Given the description of an element on the screen output the (x, y) to click on. 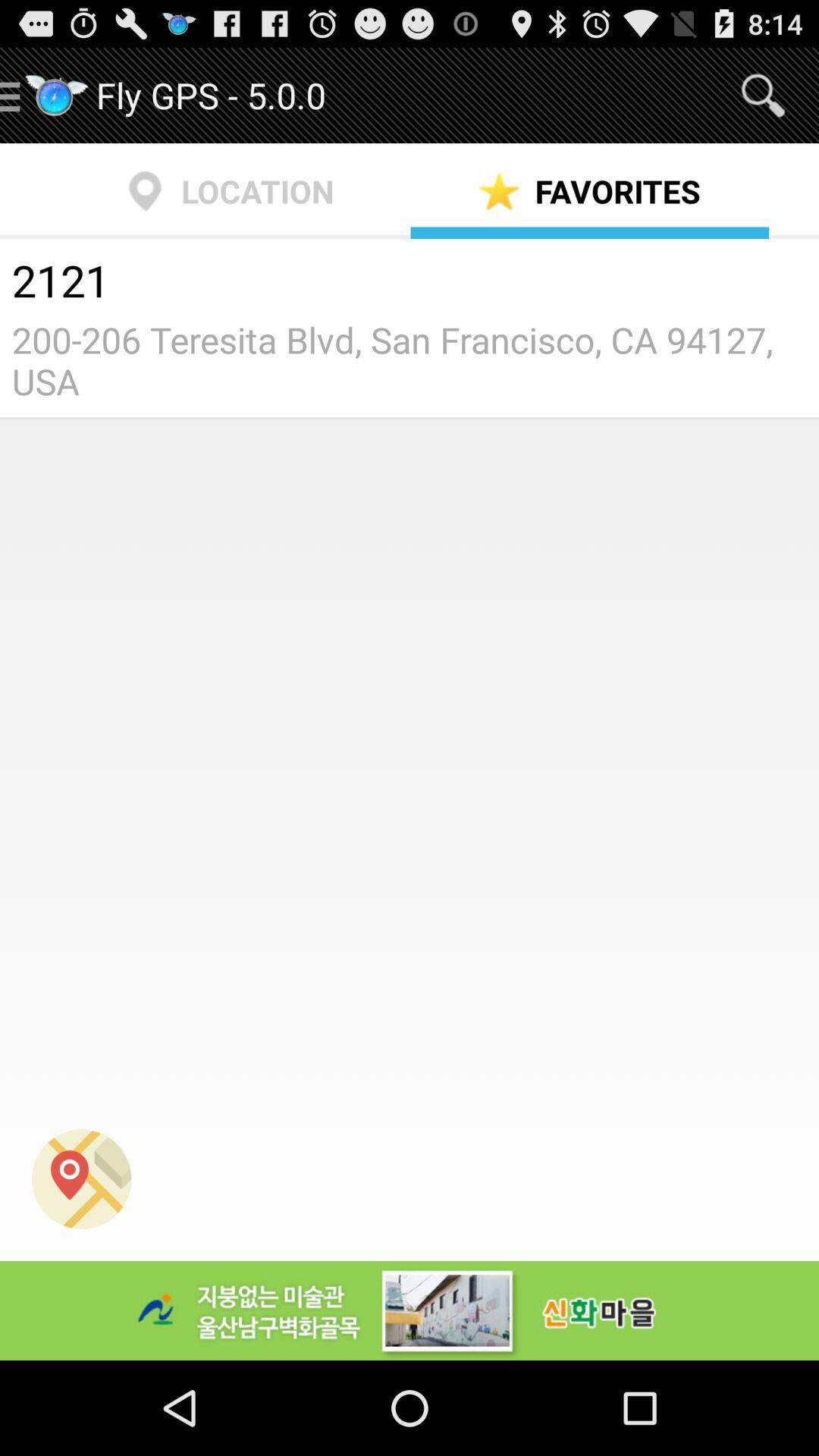
launch the icon below 2121 icon (409, 360)
